Given the description of an element on the screen output the (x, y) to click on. 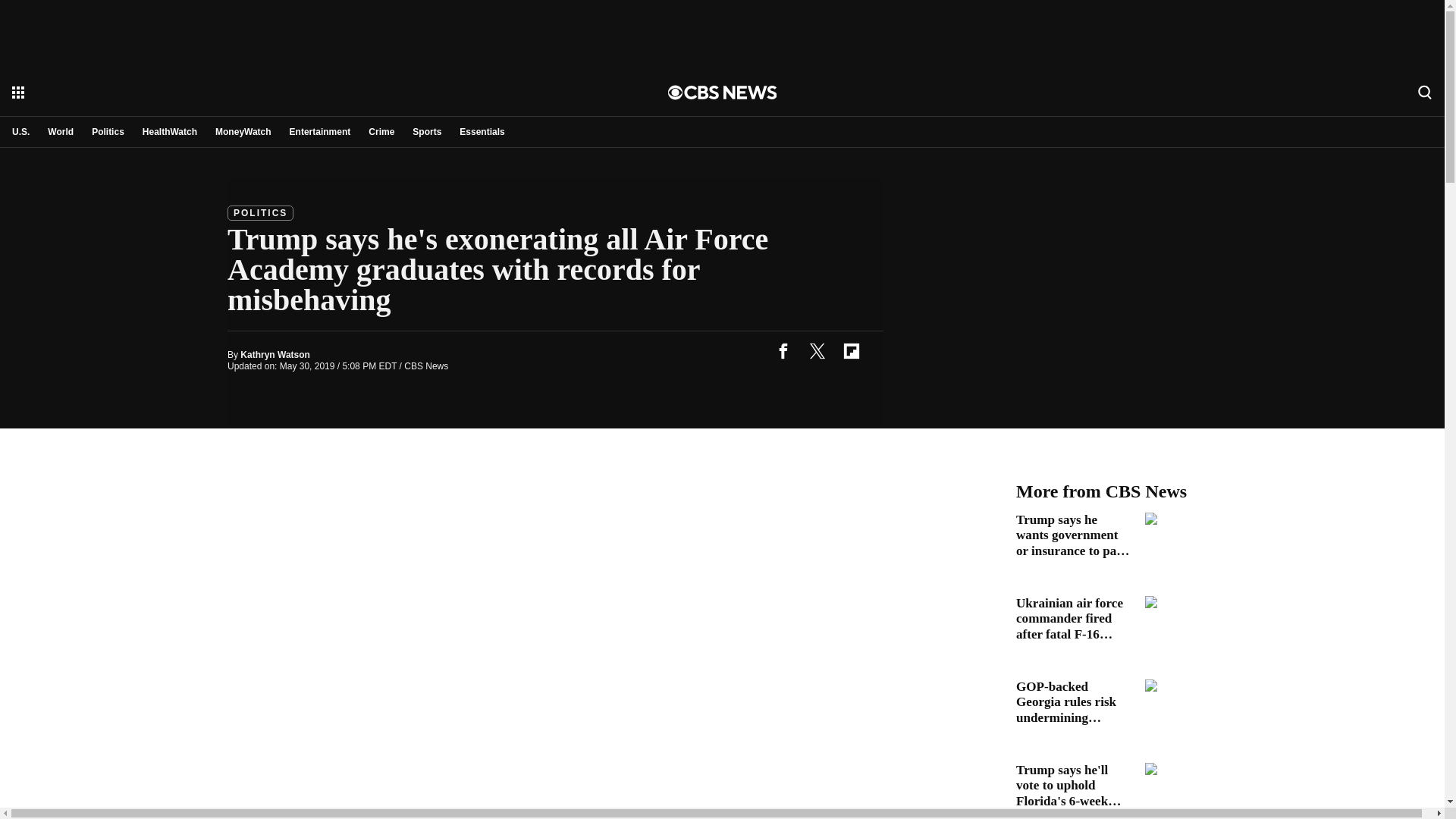
facebook (782, 350)
flipboard (850, 350)
twitter (816, 350)
